Given the description of an element on the screen output the (x, y) to click on. 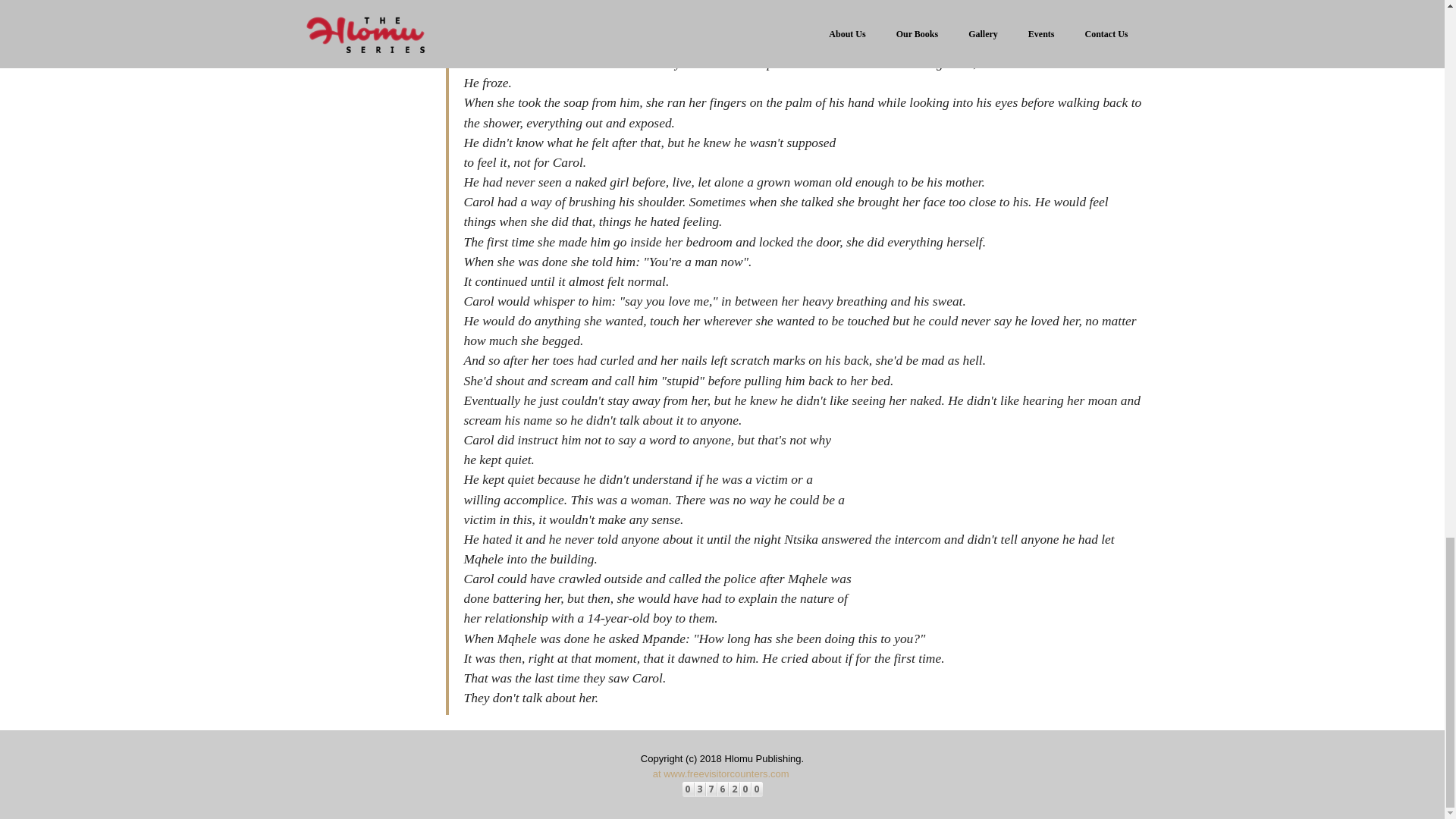
at www.freevisitorcounters.com (720, 773)
